Given the description of an element on the screen output the (x, y) to click on. 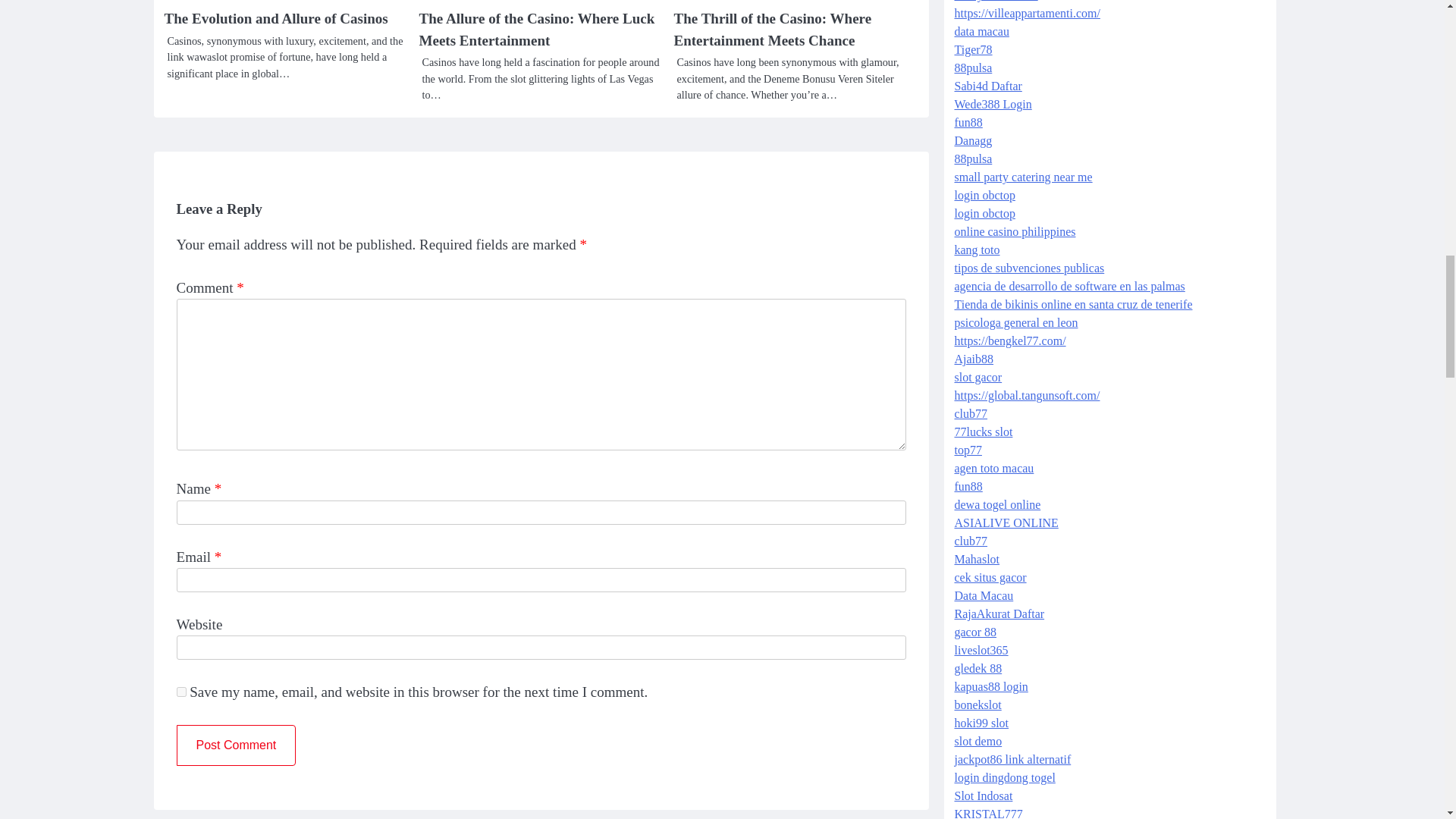
The Evolution and Allure of Casinos (275, 18)
The Allure of the Casino: Where Luck Meets Entertainment (536, 29)
Post Comment (235, 744)
The Thrill of the Casino: Where Entertainment Meets Chance (771, 29)
yes (181, 691)
Post Comment (235, 744)
